Given the description of an element on the screen output the (x, y) to click on. 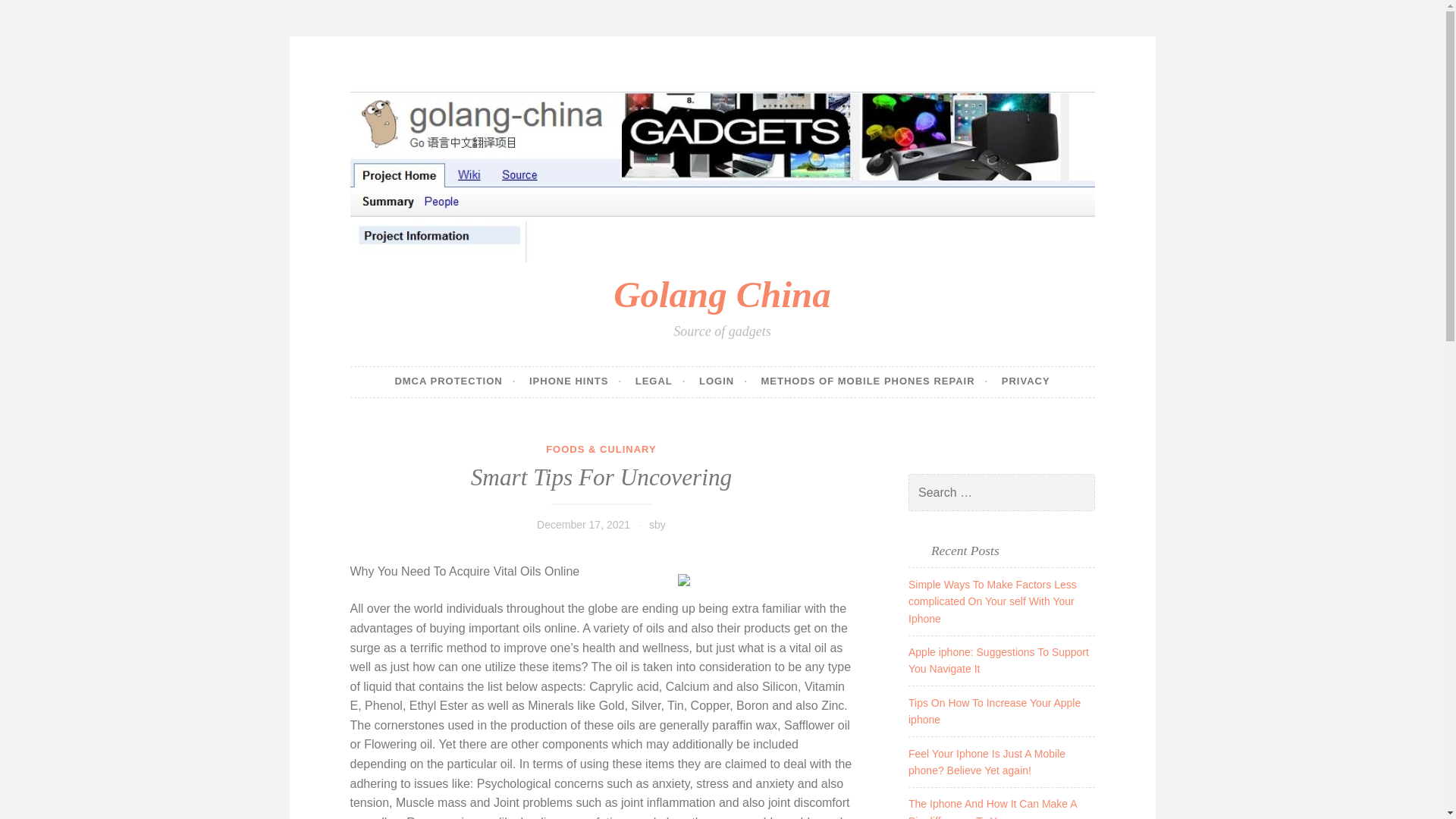
Golang China (720, 294)
METHODS OF MOBILE PHONES REPAIR (874, 381)
LOGIN (723, 381)
PRIVACY (1025, 381)
Apple iphone: Suggestions To Support You Navigate It (998, 660)
sby (657, 524)
December 17, 2021 (583, 524)
LEGAL (659, 381)
Search (33, 13)
